Given the description of an element on the screen output the (x, y) to click on. 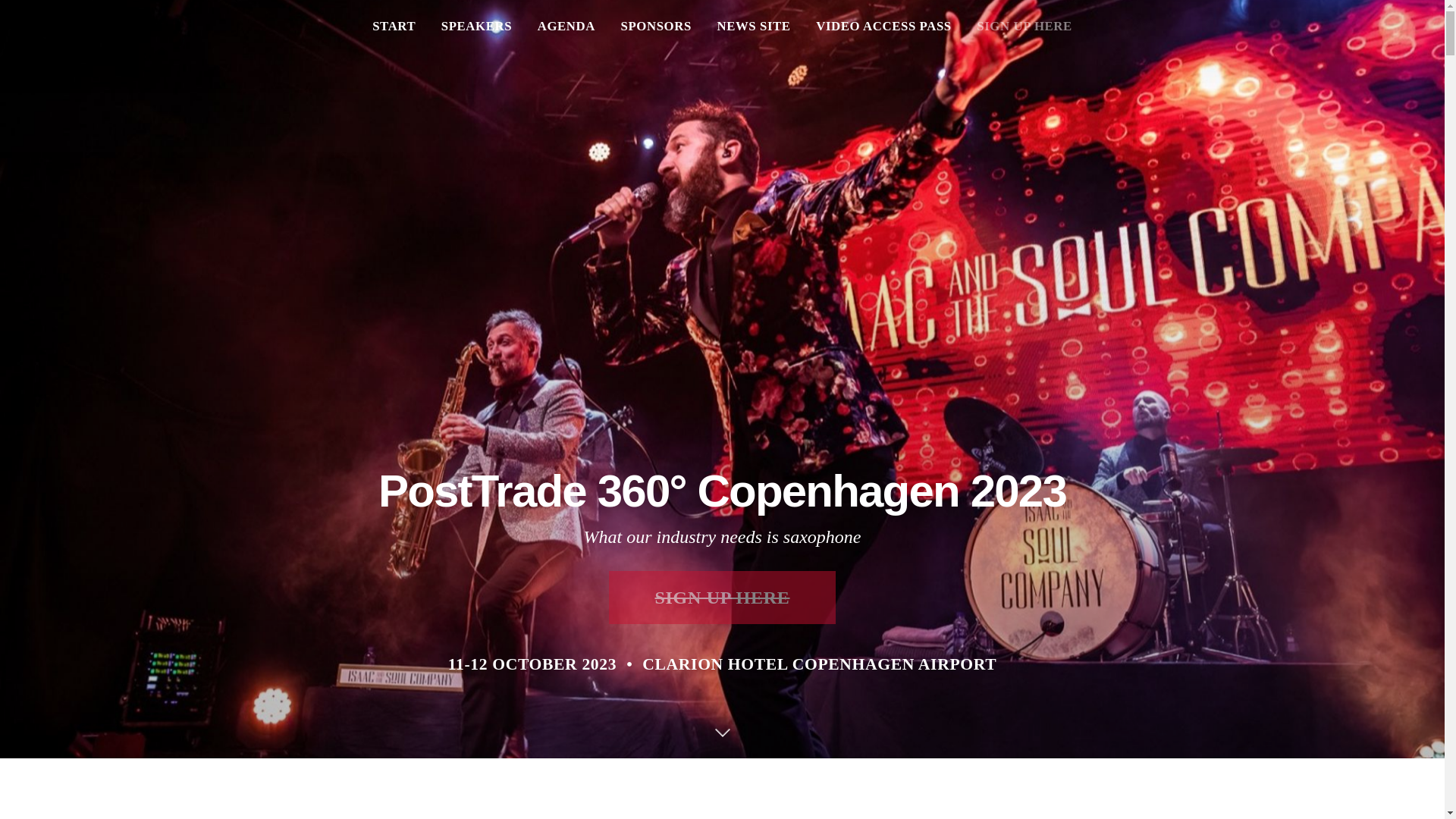
SPONSORS (656, 29)
NEWS SITE (753, 29)
SPEAKERS (476, 29)
AGENDA (566, 29)
START (393, 29)
VIDEO ACCESS PASS (882, 29)
